Given the description of an element on the screen output the (x, y) to click on. 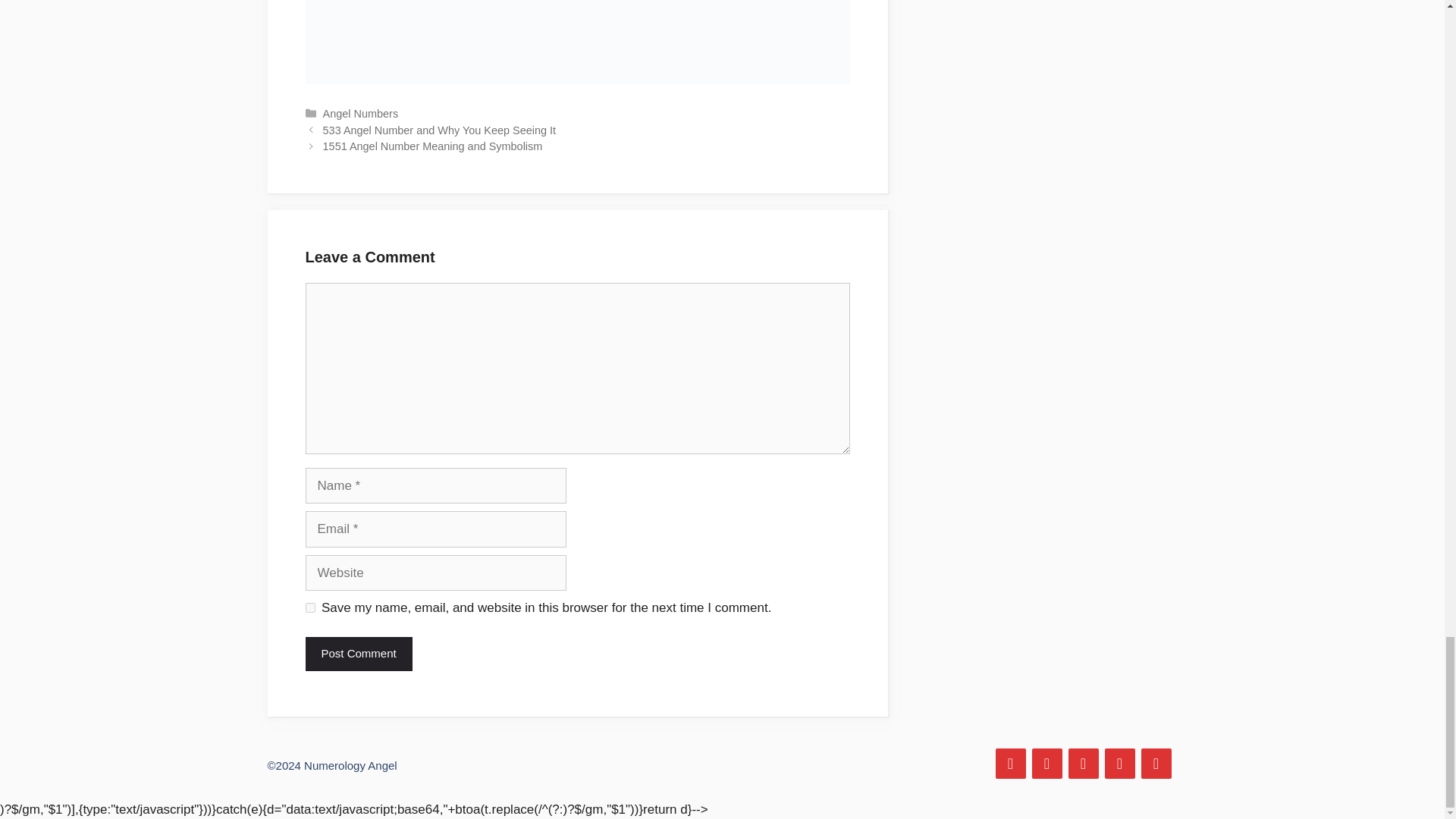
1551 Angel Number Meaning and Symbolism (433, 146)
Post Comment (358, 653)
YouTube (1155, 763)
yes (309, 607)
Post Comment (358, 653)
Numerology Angel (350, 765)
Twitter (1045, 763)
533 Angel Number and Why You Keep Seeing It (439, 130)
Tumblr (1118, 763)
Facebook (1009, 763)
Pinterest (1082, 763)
Angel Numbers (360, 113)
